Given the description of an element on the screen output the (x, y) to click on. 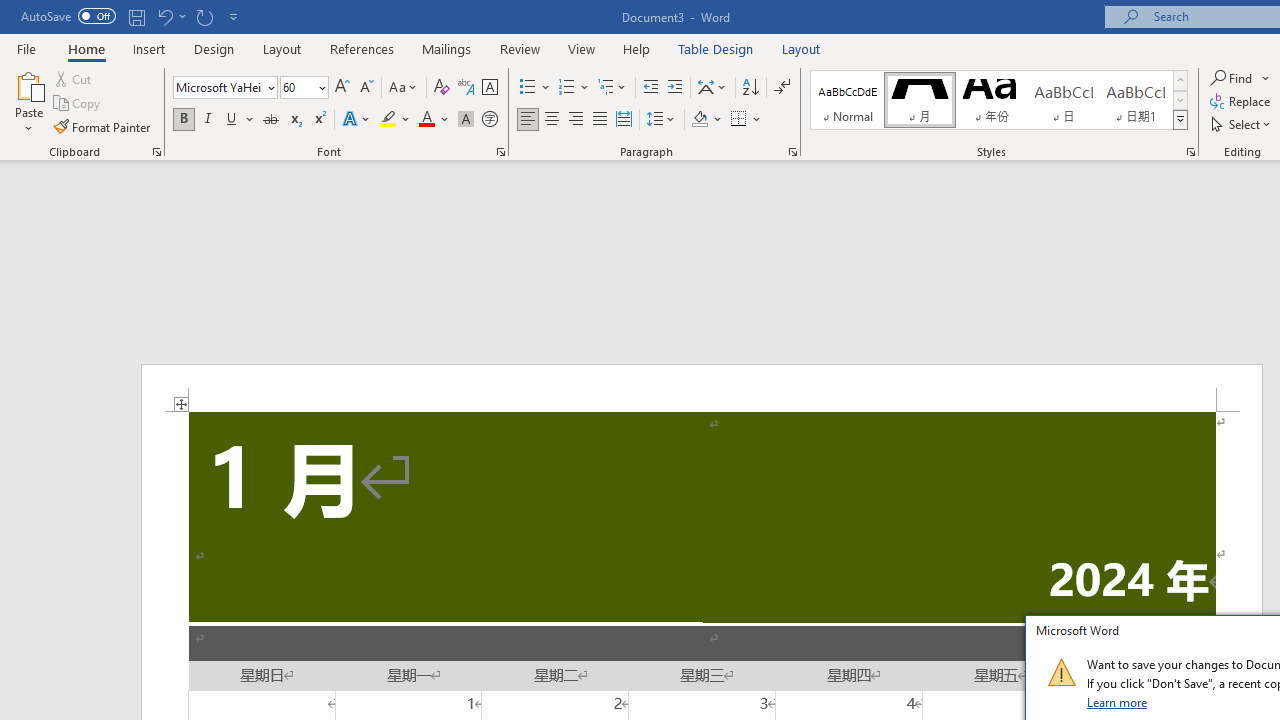
Table Design (715, 48)
Font (218, 87)
Open (320, 87)
Learn more (1118, 702)
View (582, 48)
Grow Font (342, 87)
Font Color RGB(255, 0, 0) (426, 119)
Cut (73, 78)
Asian Layout (712, 87)
Office Clipboard... (156, 151)
Strikethrough (270, 119)
Home (86, 48)
Save (136, 15)
Paste (28, 84)
